Given the description of an element on the screen output the (x, y) to click on. 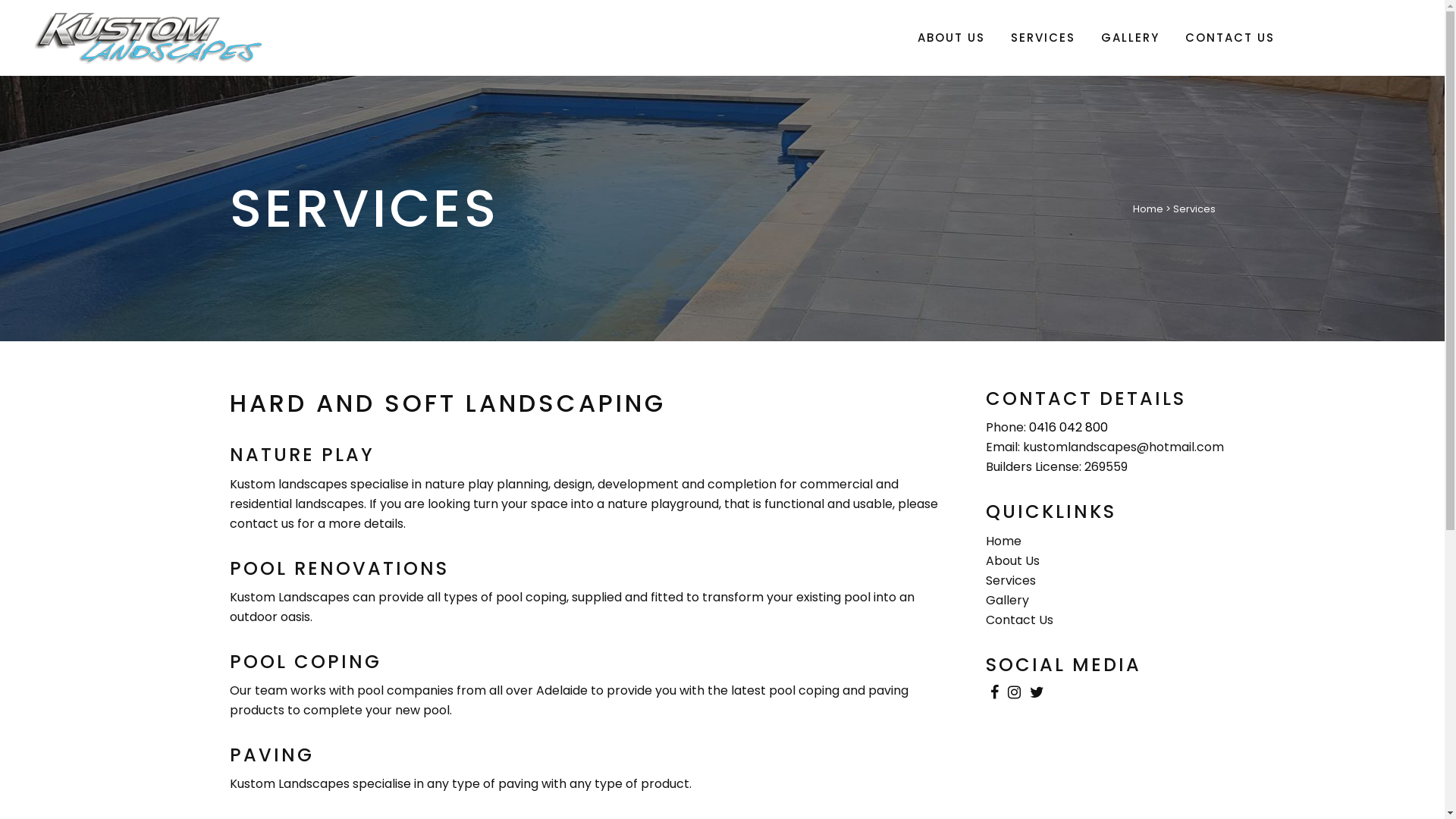
CONTACT US Element type: text (1229, 37)
About Us Element type: text (1012, 560)
Contact Us Element type: text (1019, 619)
ABOUT US Element type: text (950, 37)
Home Element type: text (1003, 540)
GALLERY Element type: text (1130, 37)
Services Element type: text (1010, 580)
Home Element type: text (1147, 208)
Gallery Element type: text (1007, 599)
kustomlandscapes@hotmail.com Element type: text (1122, 446)
SERVICES Element type: text (1042, 37)
0416 042 800 Element type: text (1068, 427)
